Given the description of an element on the screen output the (x, y) to click on. 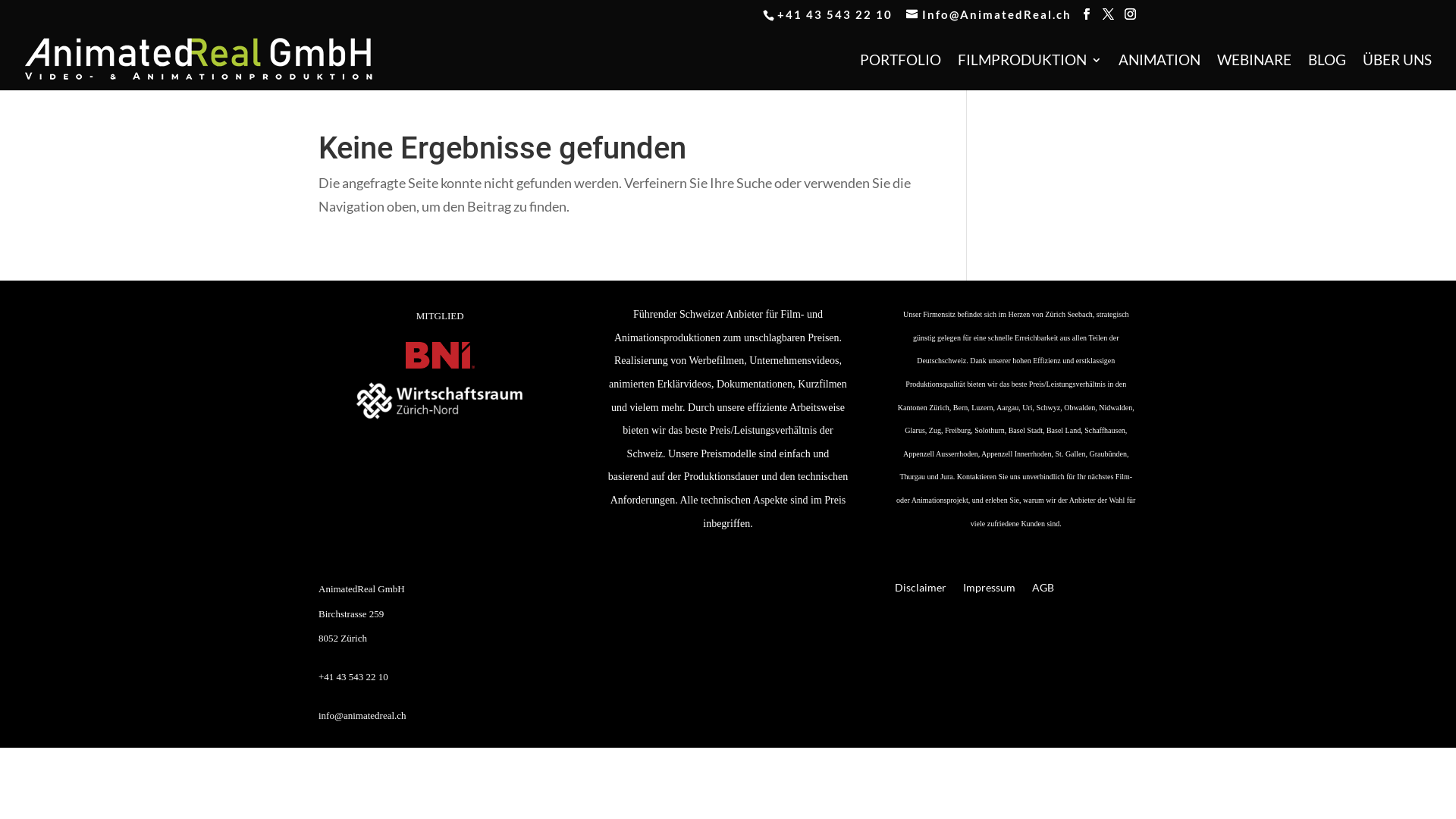
WEBINARE Element type: text (1254, 72)
Disclaimer Element type: text (920, 590)
AGB Element type: text (1043, 590)
BLOG Element type: text (1327, 72)
PORTFOLIO Element type: text (900, 72)
Info@AnimatedReal.ch Element type: text (988, 14)
ANIMATION Element type: text (1159, 72)
FILMPRODUKTION Element type: text (1029, 72)
Impressum Element type: text (989, 590)
